Given the description of an element on the screen output the (x, y) to click on. 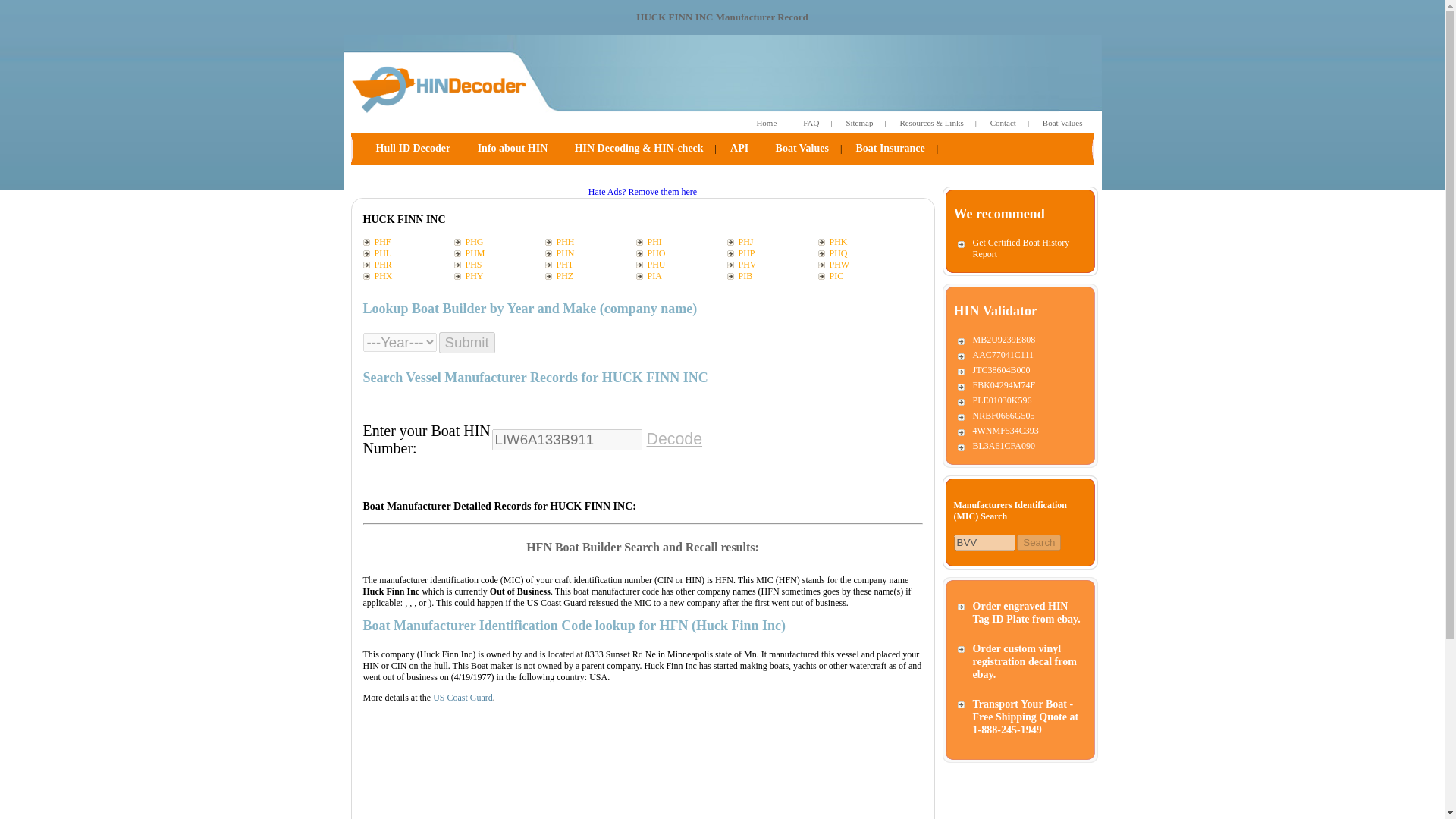
PHI (680, 242)
PHJ (771, 242)
PHI HIN decoder (680, 242)
Submit (466, 342)
PHQ (862, 253)
PHX (407, 276)
Info about HIN (512, 148)
Search (1038, 542)
Boat Insurance Quotes (890, 148)
PHK HIN decoder (862, 242)
HIN decoding and check (638, 148)
PHP (771, 253)
PHH (589, 242)
PHL (407, 253)
Hate Ads? Remove them here (642, 191)
